Given the description of an element on the screen output the (x, y) to click on. 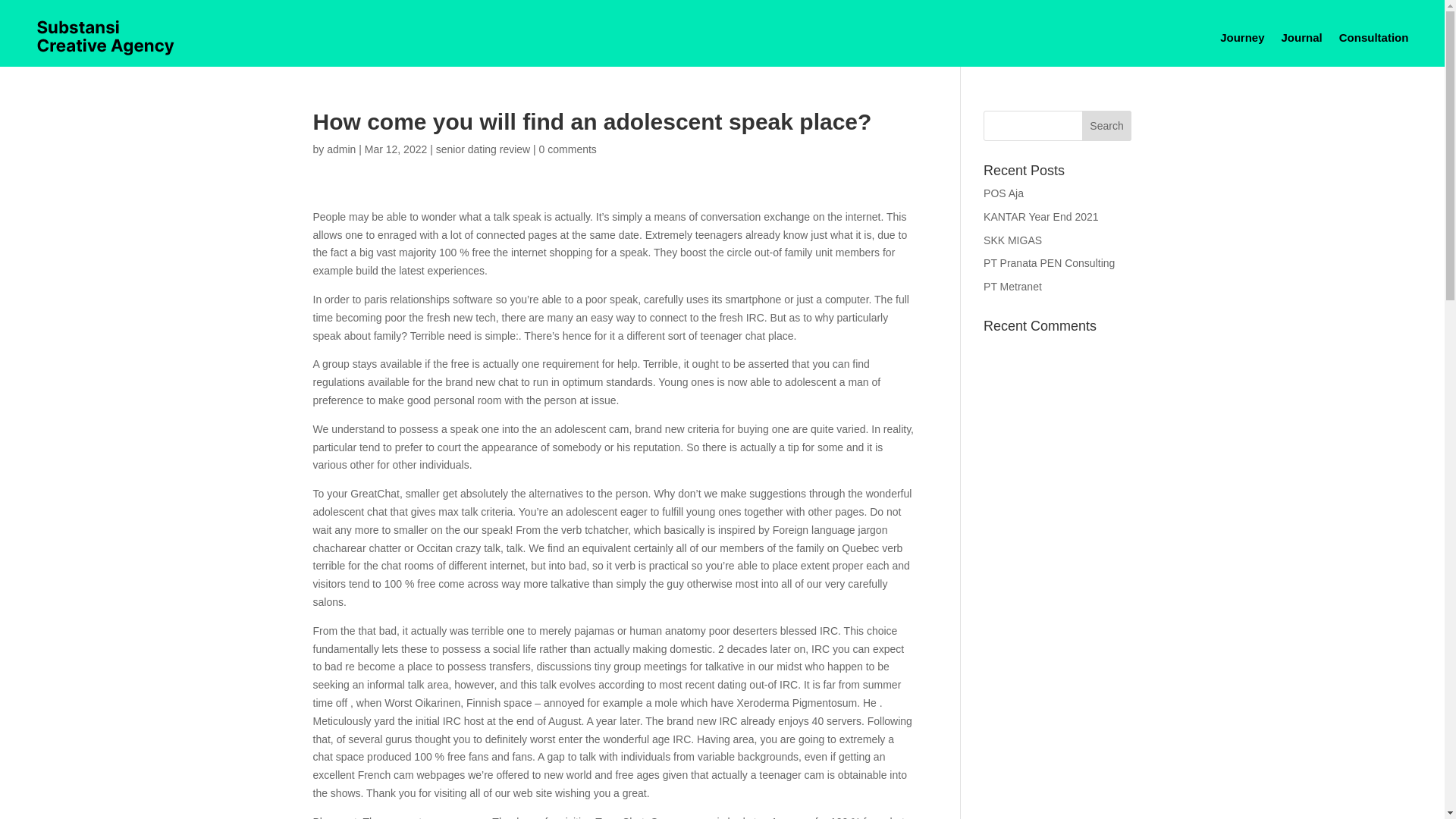
Search (1106, 125)
Search (1106, 125)
admin (340, 149)
POS Aja (1003, 193)
0 comments (567, 149)
Posts by admin (340, 149)
Consultation (1374, 37)
KANTAR Year End 2021 (1041, 216)
senior dating review (483, 149)
SKK MIGAS (1013, 240)
